Given the description of an element on the screen output the (x, y) to click on. 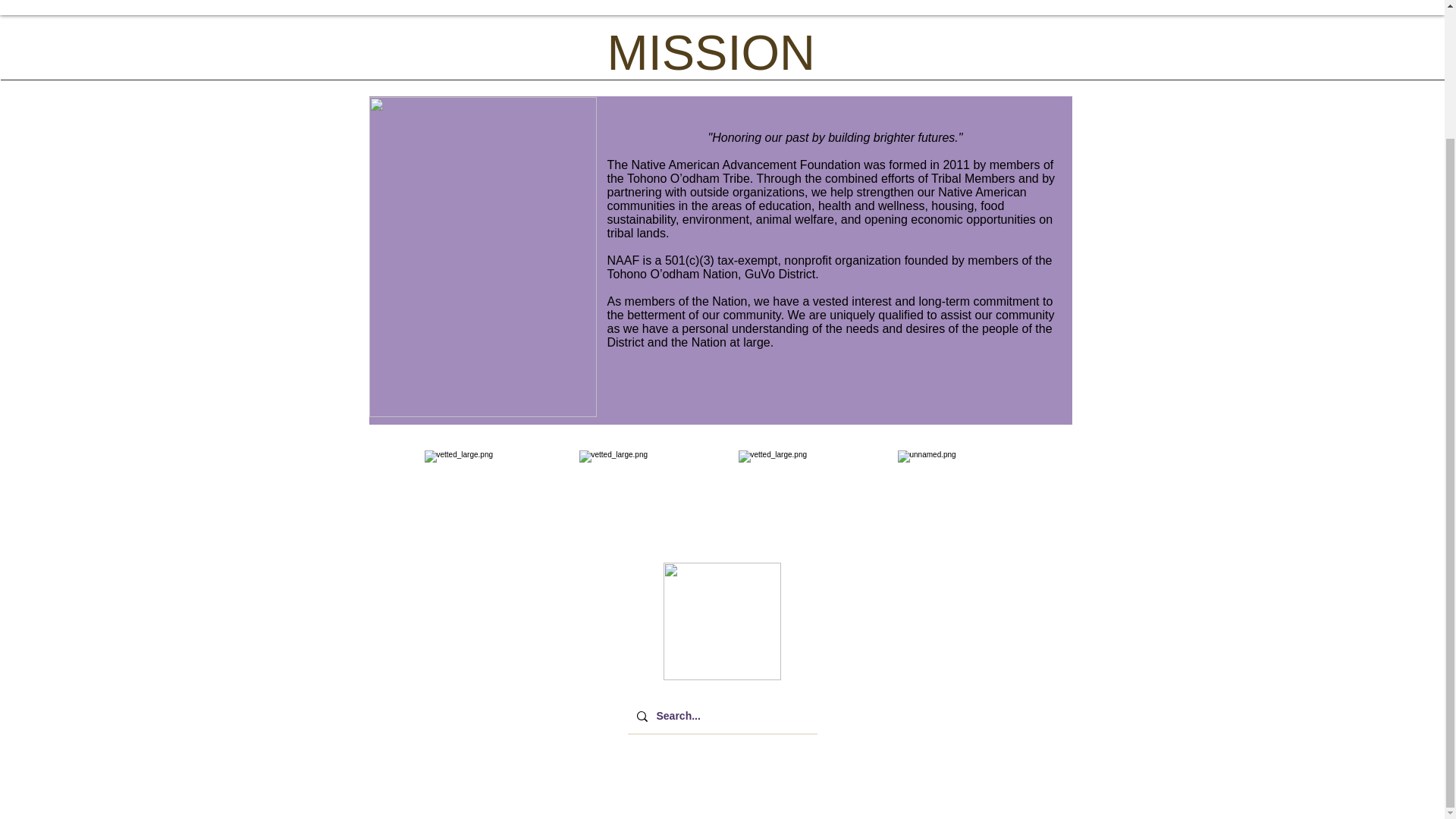
ABOUT US (1035, 2)
THE STORE (779, 2)
RESOURCES (908, 2)
HOME (396, 2)
AZIFG Proud Member Icon 2024 100px.png (721, 621)
OUR WORK (653, 2)
NEWSLETTERS (516, 2)
